Given the description of an element on the screen output the (x, y) to click on. 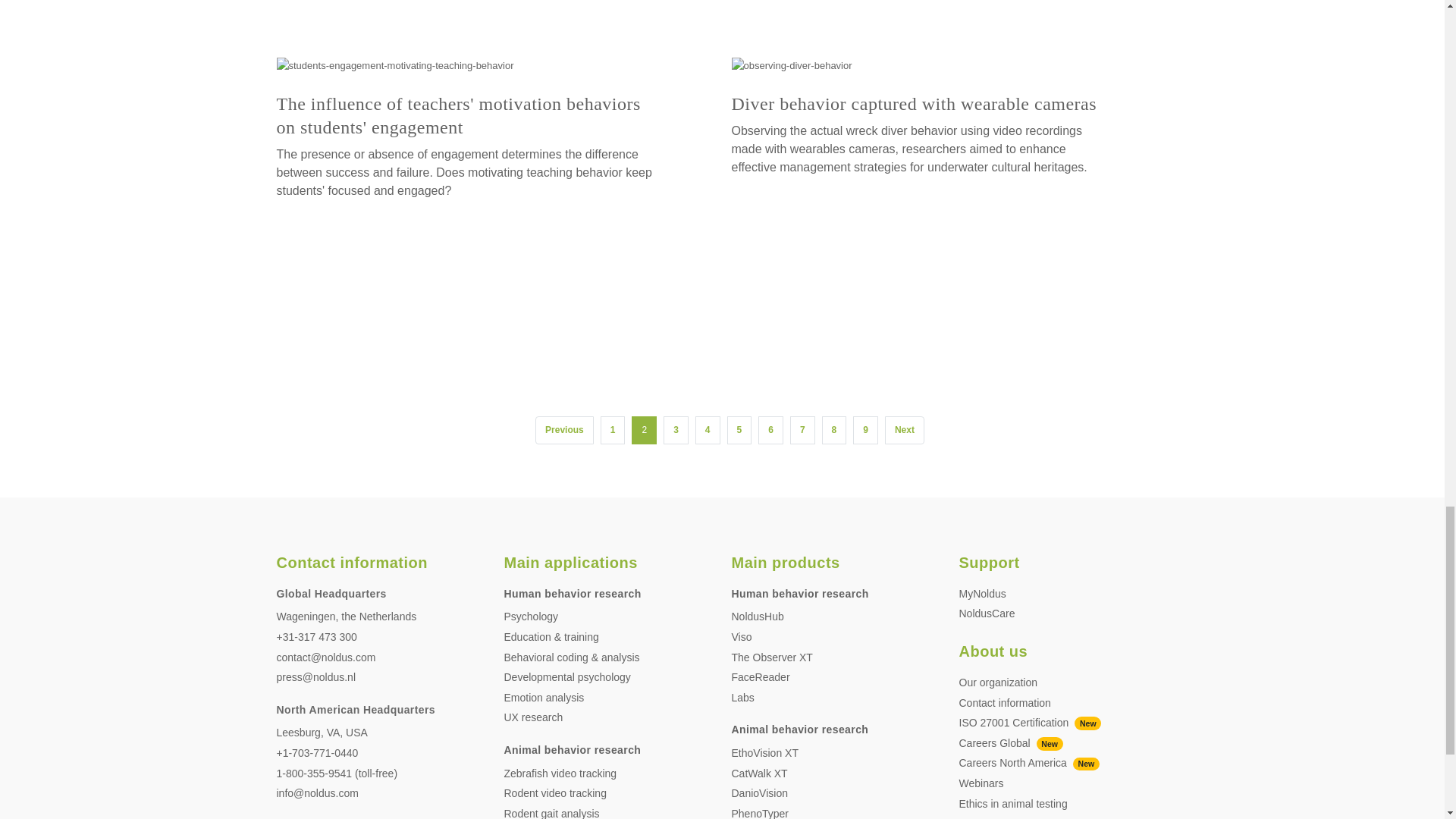
4 (707, 430)
Diver behavior captured with wearable cameras (913, 103)
Diver behavior captured with wearable cameras (790, 65)
3 (675, 430)
1 (612, 430)
Previous (564, 430)
